Given the description of an element on the screen output the (x, y) to click on. 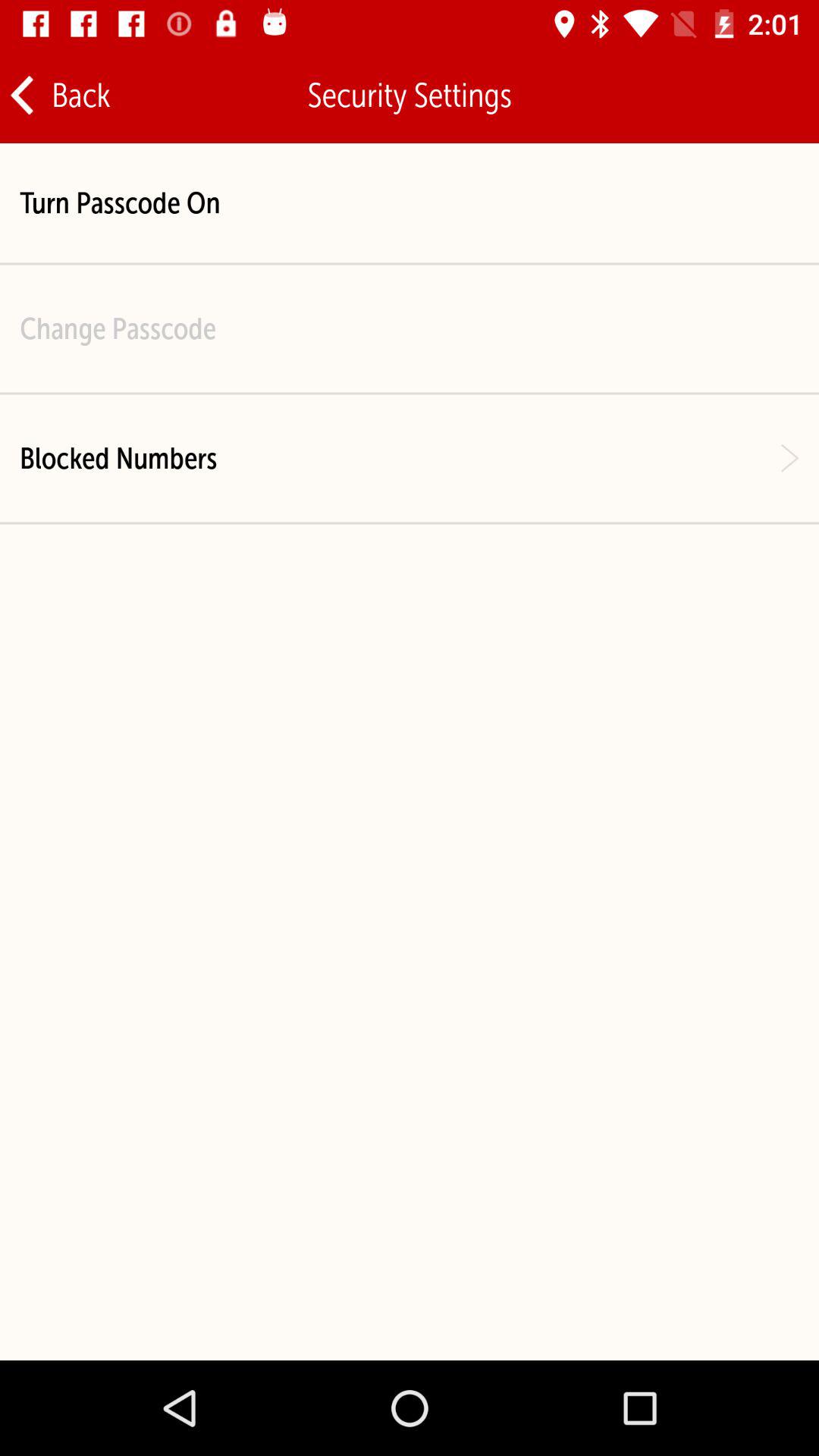
jump to blocked numbers icon (118, 458)
